Given the description of an element on the screen output the (x, y) to click on. 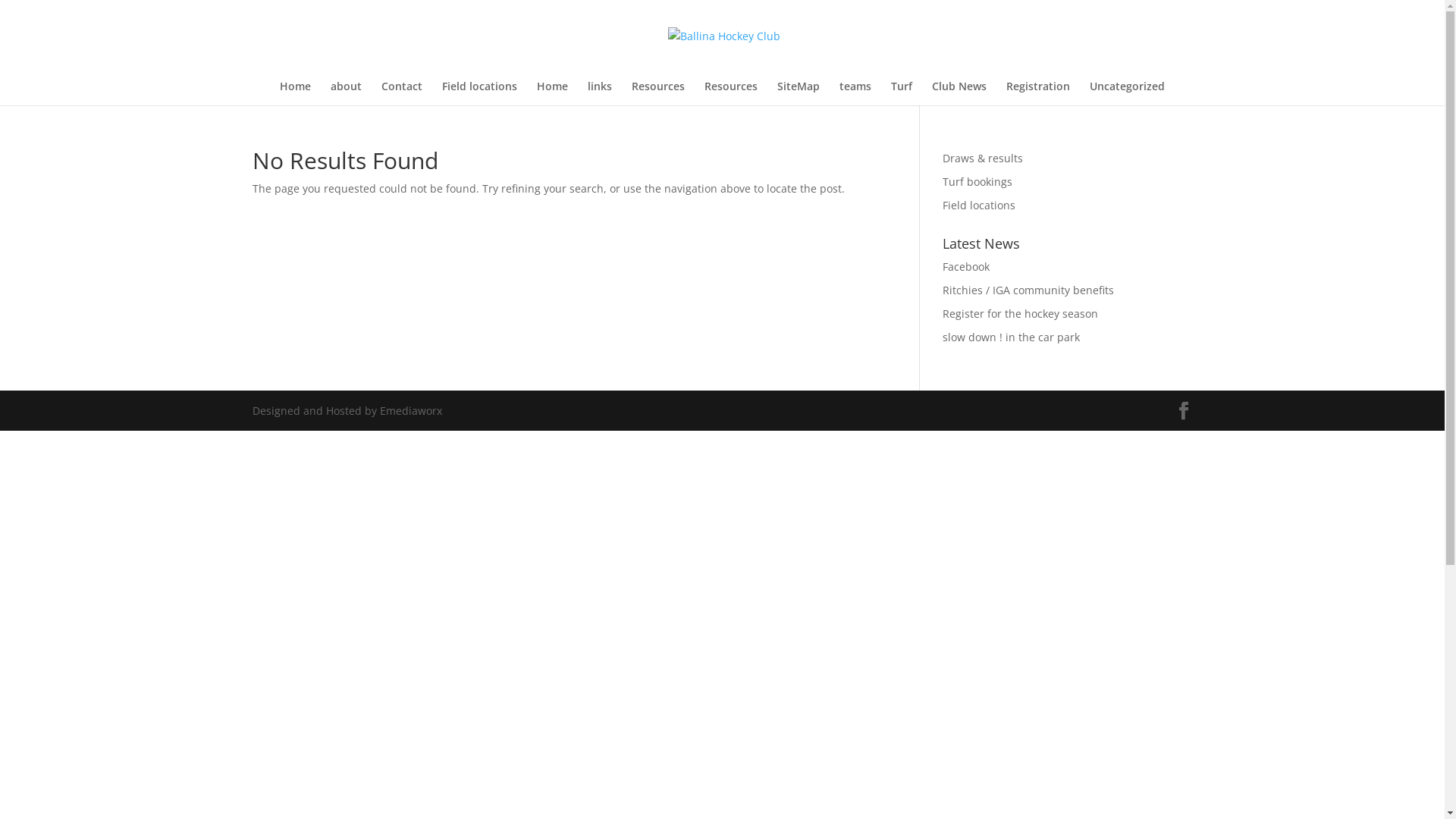
about Element type: text (345, 93)
Club News Element type: text (958, 93)
Field locations Element type: text (479, 93)
Home Element type: text (294, 93)
Register for the hockey season Element type: text (1020, 313)
SiteMap Element type: text (798, 93)
Resources Element type: text (730, 93)
Facebook Element type: text (965, 266)
Turf Element type: text (901, 93)
Turf bookings Element type: text (977, 181)
links Element type: text (599, 93)
Draws & results Element type: text (982, 157)
teams Element type: text (855, 93)
Home Element type: text (551, 93)
Ritchies / IGA community benefits Element type: text (1027, 289)
Resources Element type: text (657, 93)
Field locations Element type: text (978, 204)
Registration Element type: text (1038, 93)
Uncategorized Element type: text (1126, 93)
Contact Element type: text (401, 93)
slow down ! in the car park Element type: text (1010, 336)
